Given the description of an element on the screen output the (x, y) to click on. 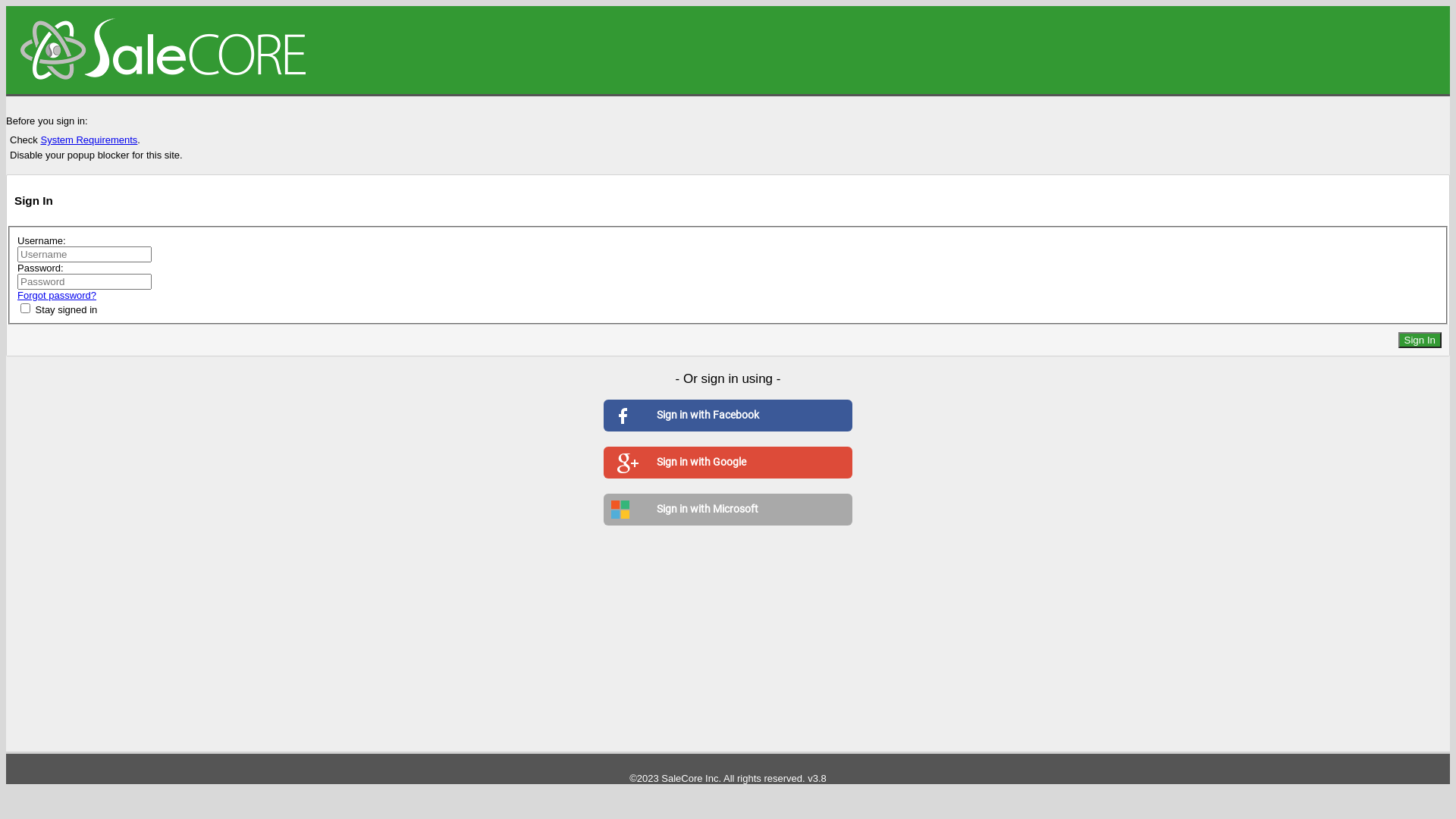
SaleCore Local Element type: hover (727, 49)
Sign in with Microsoft Element type: text (727, 509)
Sign In Element type: text (1420, 340)
System Requirements Element type: text (88, 139)
Sign in with Facebook Element type: text (727, 415)
Forgot password? Element type: text (56, 295)
Sign in with Google Element type: text (727, 462)
SaleCore Local Element type: hover (164, 49)
